Given the description of an element on the screen output the (x, y) to click on. 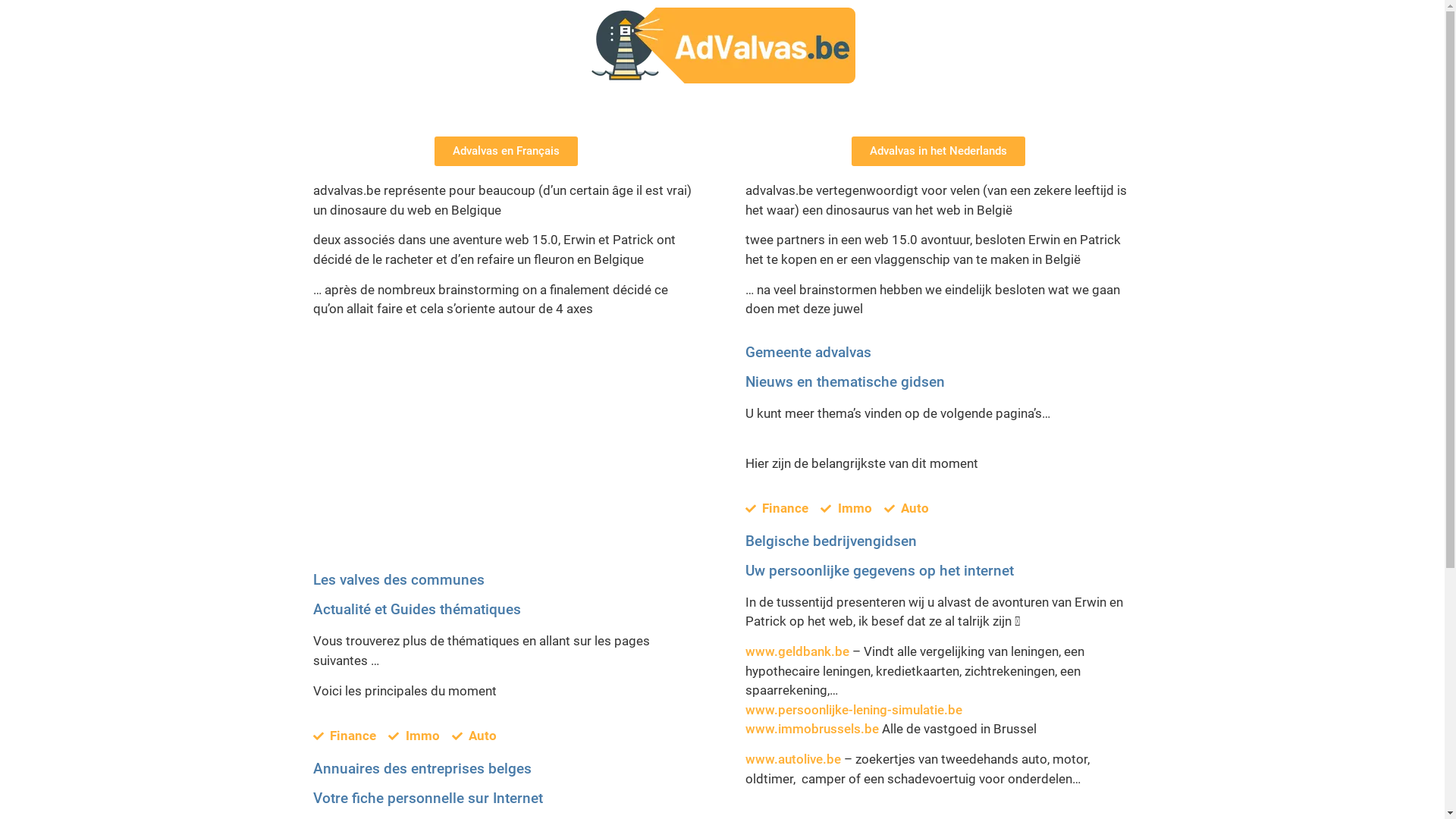
Auto Element type: text (474, 736)
Auto Element type: text (906, 508)
Advalvas in het Nederlands Element type: text (938, 151)
Finance Element type: text (344, 736)
Finance Element type: text (776, 508)
www.geldbank.be Element type: text (796, 650)
www.persoonlijke-lening-simulatie.be Element type: text (852, 709)
Immo Element type: text (846, 508)
www.autolive.be Element type: text (792, 758)
Immo Element type: text (413, 736)
www.immobrussels.be Element type: text (811, 728)
